Given the description of an element on the screen output the (x, y) to click on. 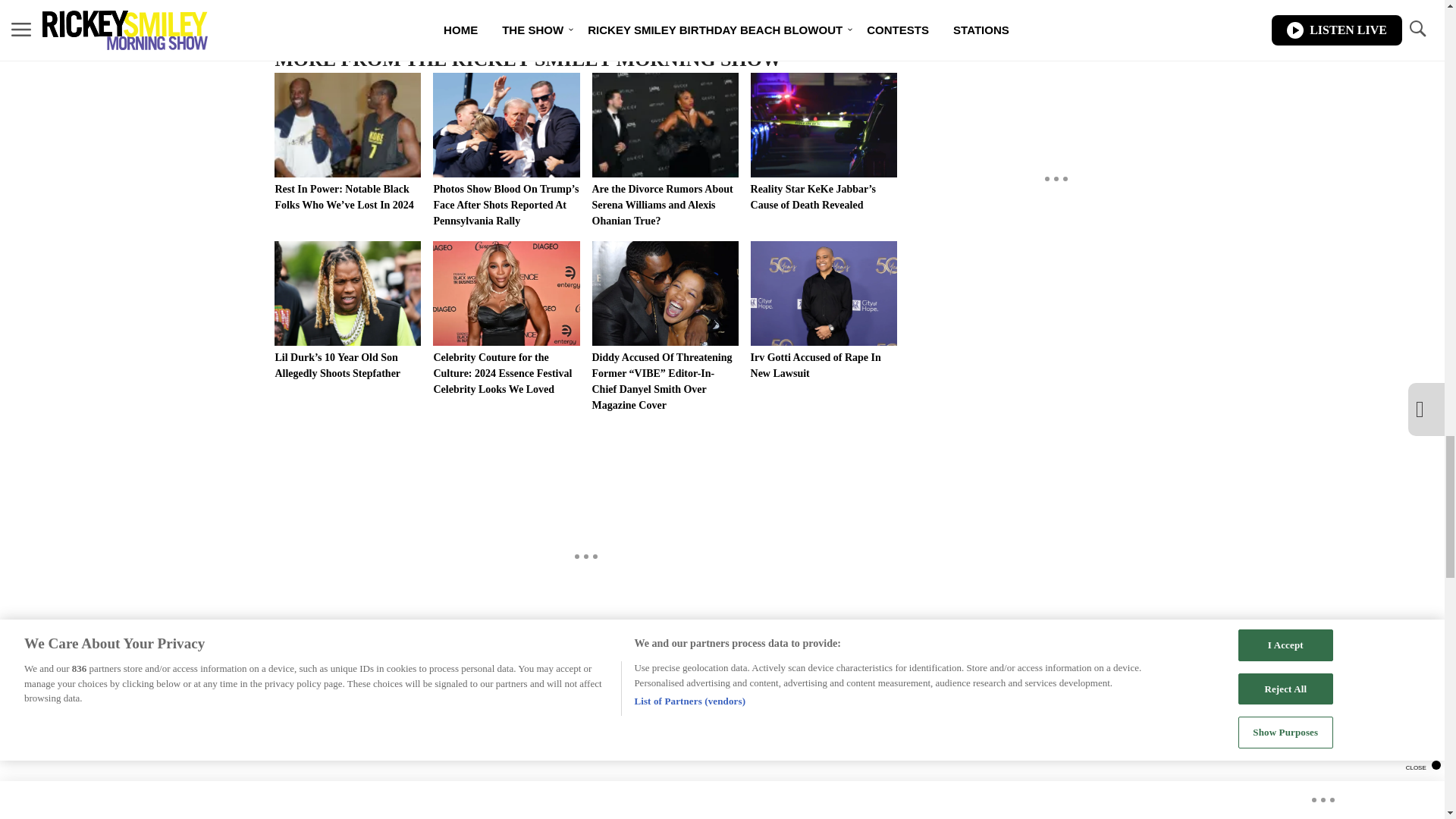
Vuukle Comments Widget (585, 759)
